Given the description of an element on the screen output the (x, y) to click on. 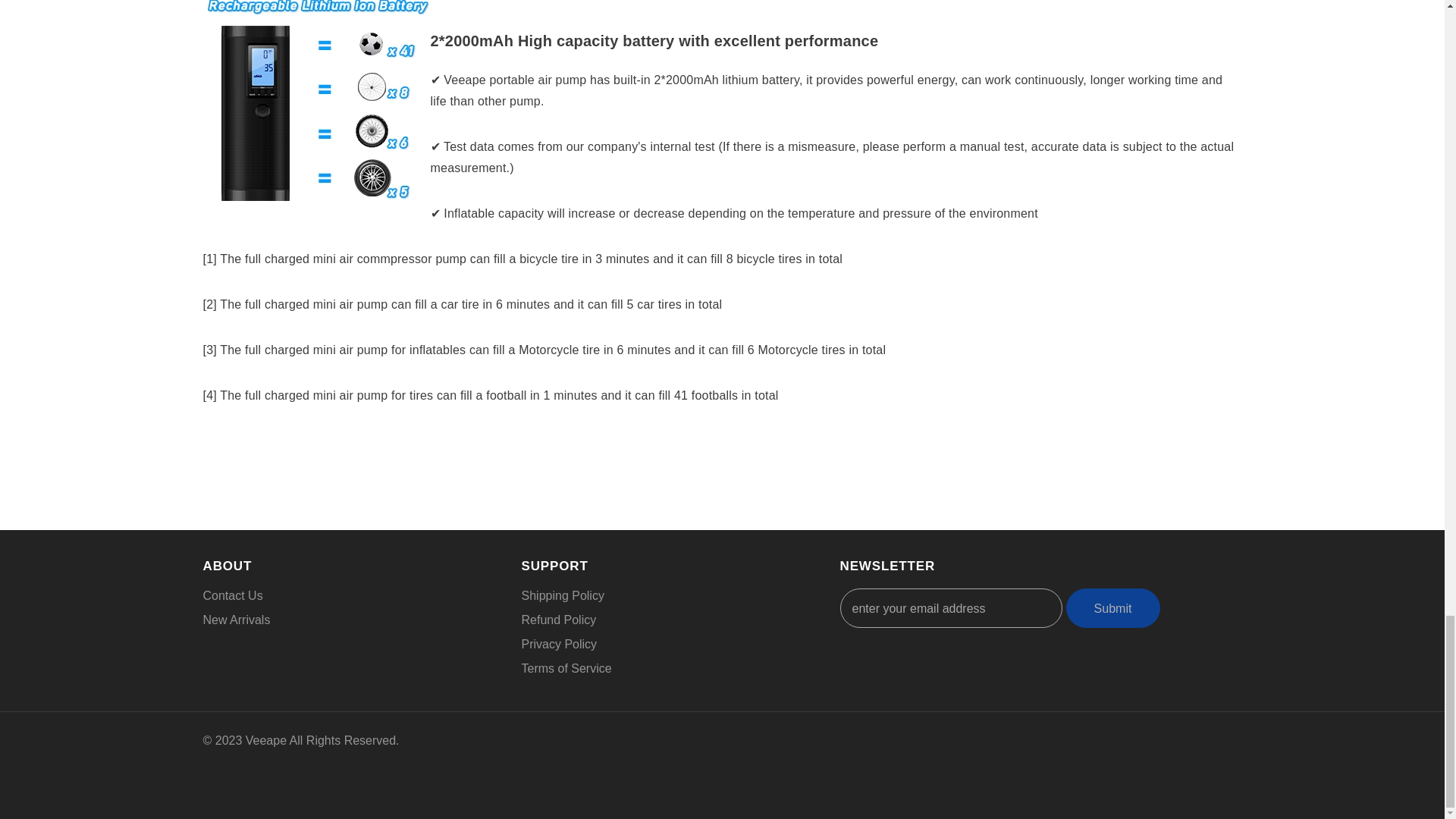
Contact Us (233, 595)
Shipping Policy (562, 595)
Refund Policy (558, 620)
Privacy Policy (558, 644)
Submit (1112, 608)
New Arrivals (236, 620)
